Given the description of an element on the screen output the (x, y) to click on. 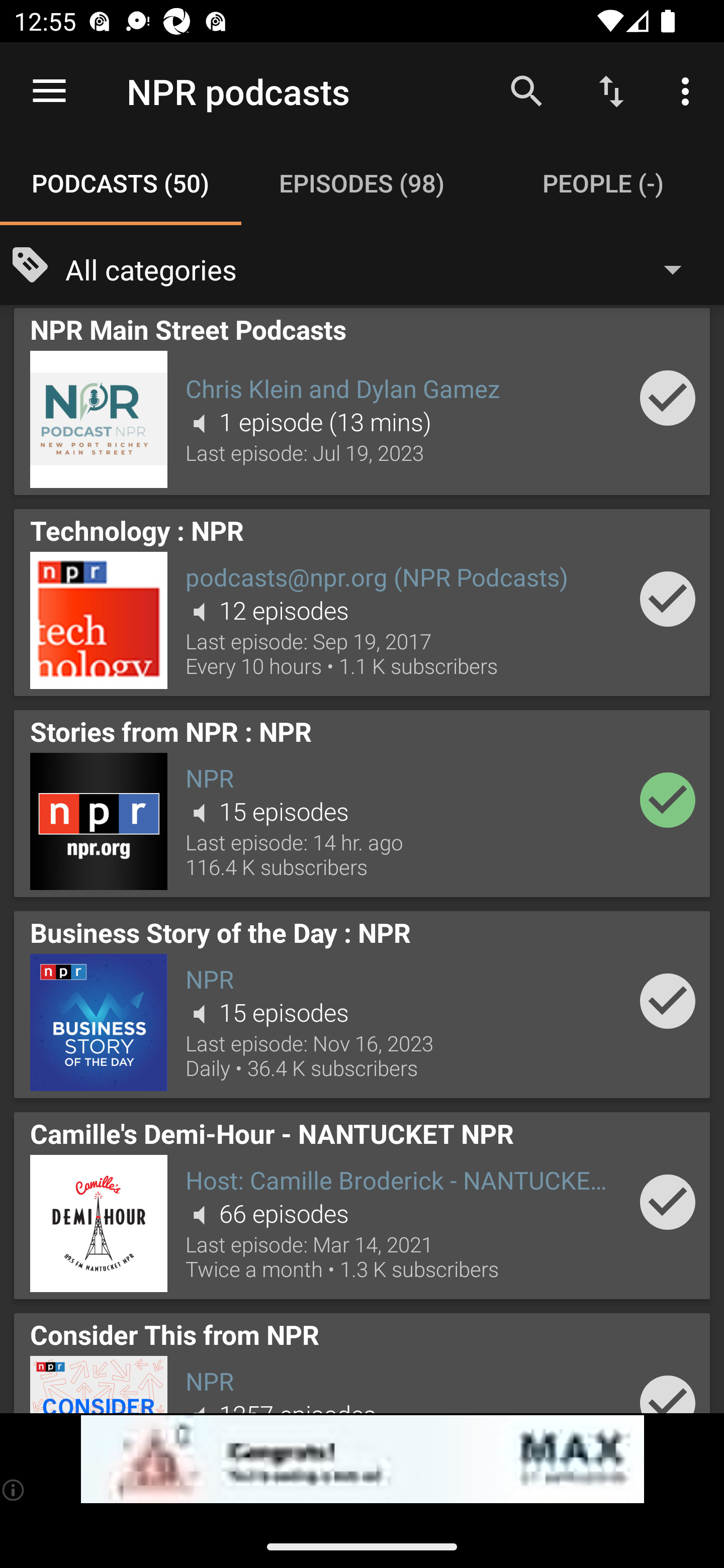
Open navigation sidebar (49, 91)
Search (526, 90)
Sort (611, 90)
More options (688, 90)
Episodes (98) EPISODES (98) (361, 183)
People (-) PEOPLE (-) (603, 183)
All categories (383, 268)
Add (667, 397)
Add (667, 598)
Add (667, 799)
Add (667, 1000)
Add (667, 1202)
Consider This from NPR NPR 1257 episodes Add (362, 1359)
Add (667, 1386)
app-monetization (362, 1459)
(i) (14, 1489)
